Given the description of an element on the screen output the (x, y) to click on. 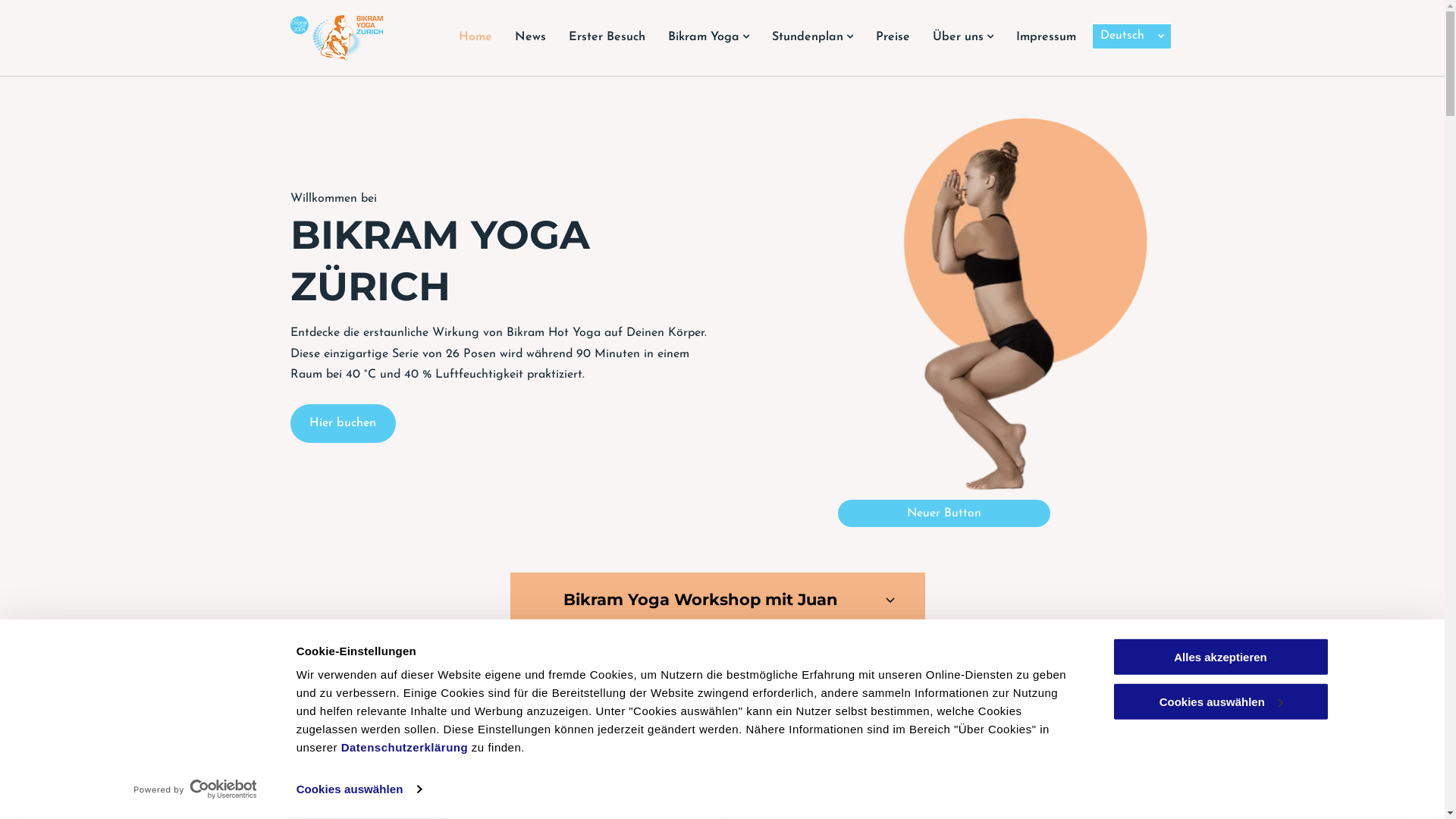
Neuer Button Element type: text (943, 513)
Home Element type: text (475, 37)
Bikram Yoga Element type: text (708, 37)
Hier buchen Element type: text (342, 423)
Alles akzeptieren Element type: text (1219, 656)
News Element type: text (530, 37)
Deutsch Element type: text (1131, 36)
Impressum Element type: text (1045, 37)
Preise Element type: text (892, 37)
Stundenplan Element type: text (811, 37)
Erster Besuch Element type: text (605, 37)
